Given the description of an element on the screen output the (x, y) to click on. 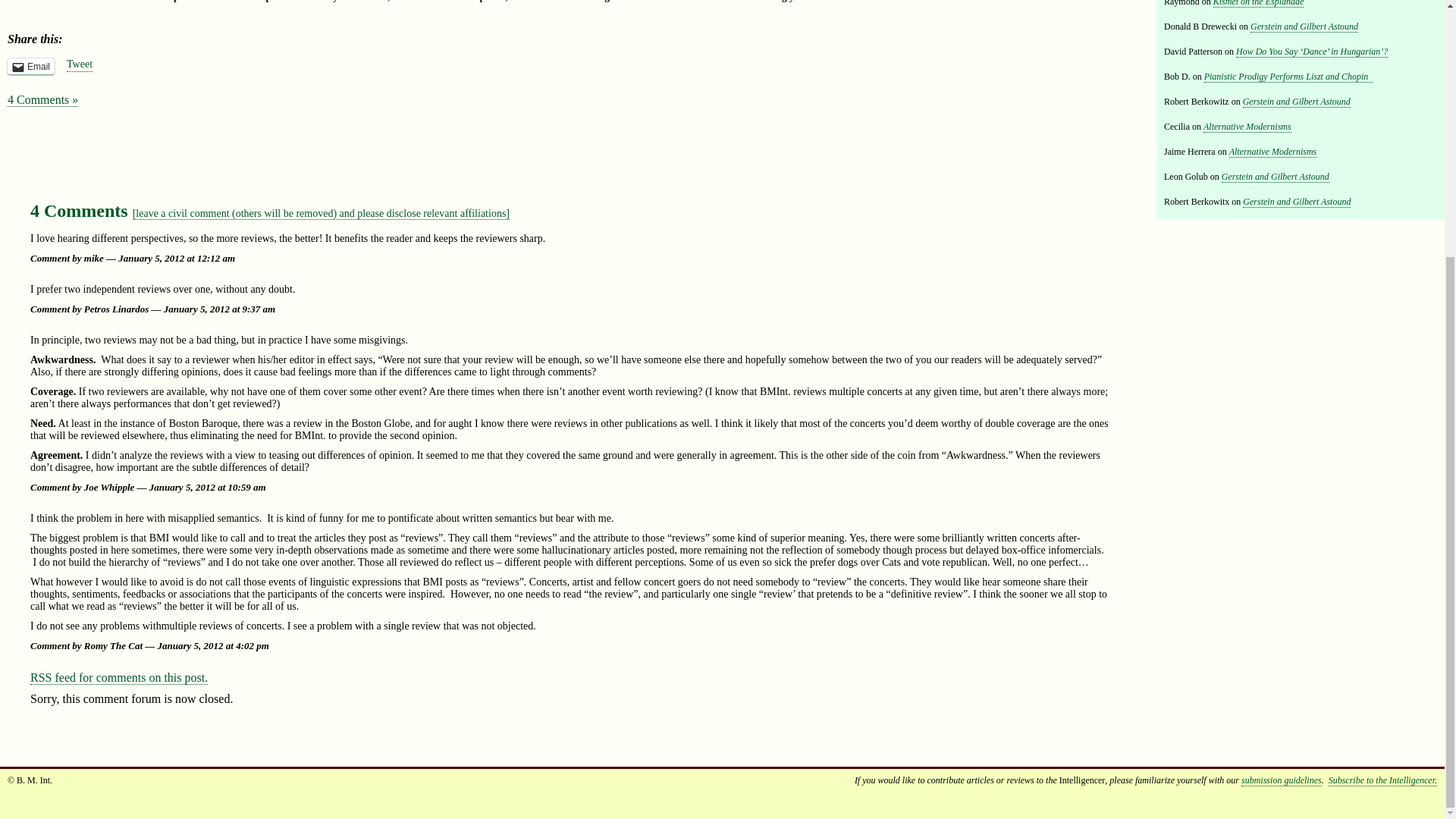
Pianistic Prodigy Performs Liszt and Chopin   (1288, 76)
Alternative Modernisms (1247, 126)
Subscribe to the Intelligencer. (1382, 780)
Click to email a link to a friend (31, 66)
submission guidelines (1281, 780)
Gerstein and Gilbert Astound (1297, 101)
RSS feed for comments on this post. (119, 677)
Gerstein and Gilbert Astound (1304, 26)
Really Simple Syndication (40, 676)
Leave a comment (320, 214)
